Given the description of an element on the screen output the (x, y) to click on. 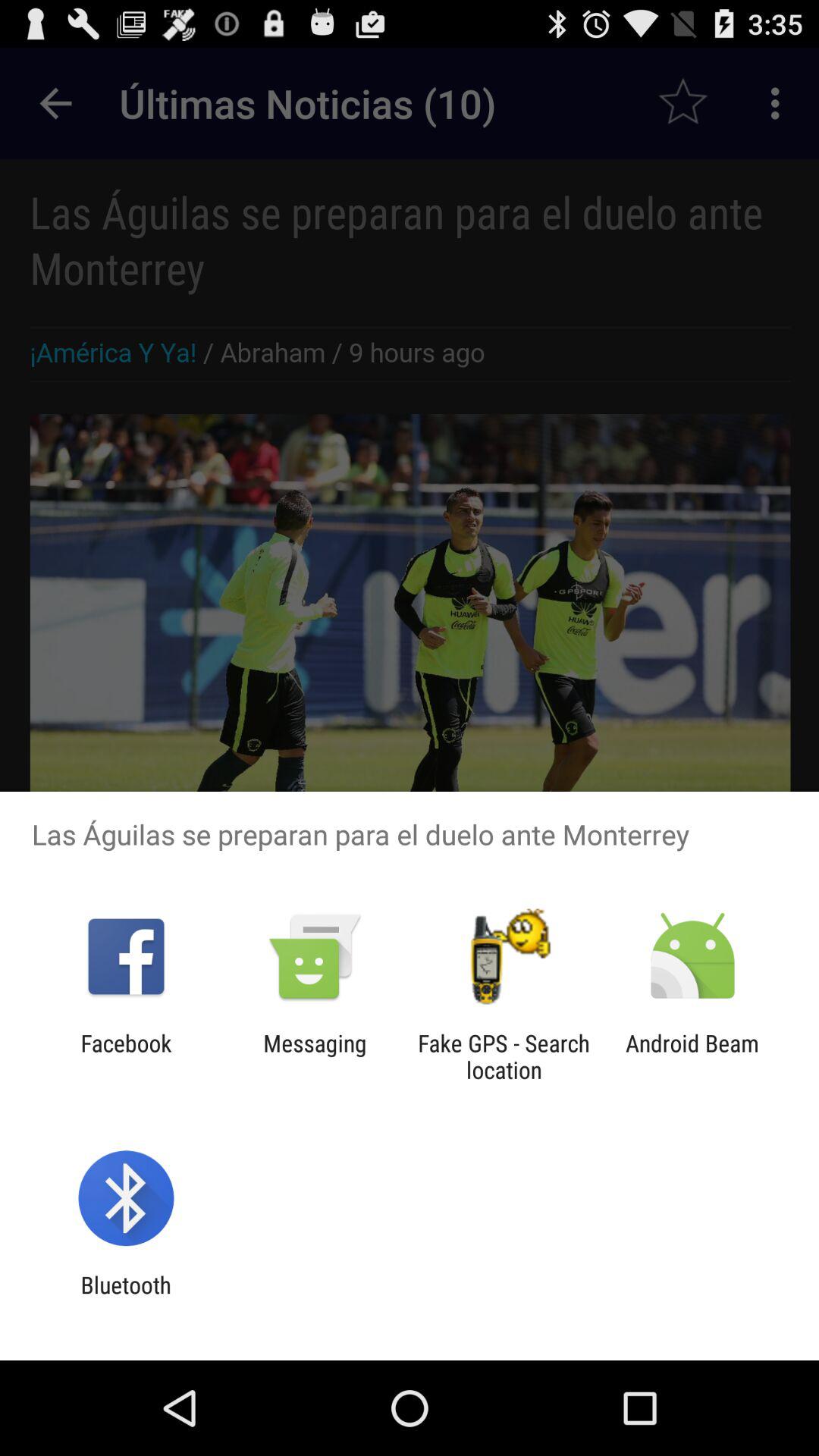
swipe to the facebook (125, 1056)
